Given the description of an element on the screen output the (x, y) to click on. 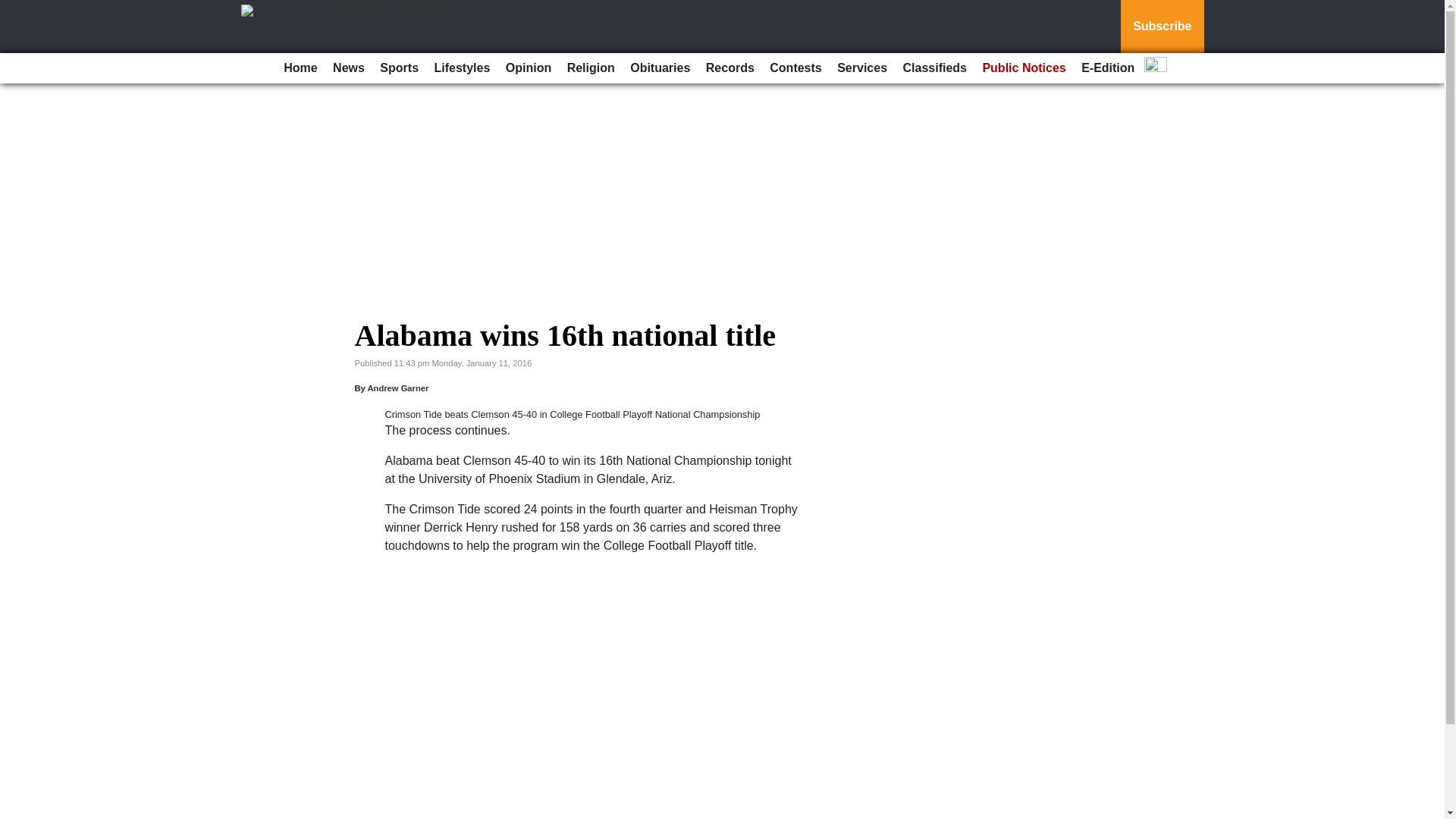
News (348, 68)
Religion (590, 68)
Andrew Garner (397, 388)
Contests (794, 68)
Records (730, 68)
Home (300, 68)
Subscribe (1162, 26)
Sports (399, 68)
Services (862, 68)
E-Edition (1107, 68)
